Given the description of an element on the screen output the (x, y) to click on. 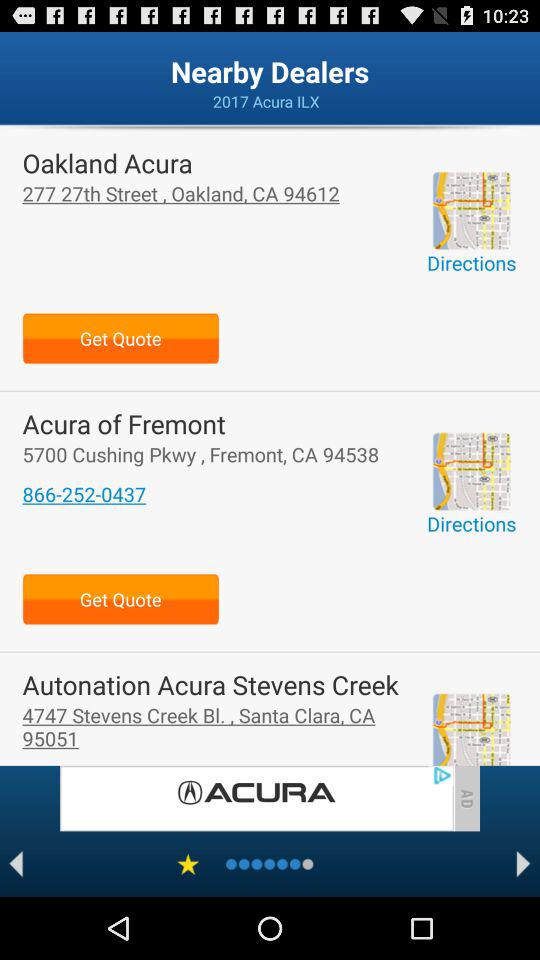
go to next (523, 864)
